Given the description of an element on the screen output the (x, y) to click on. 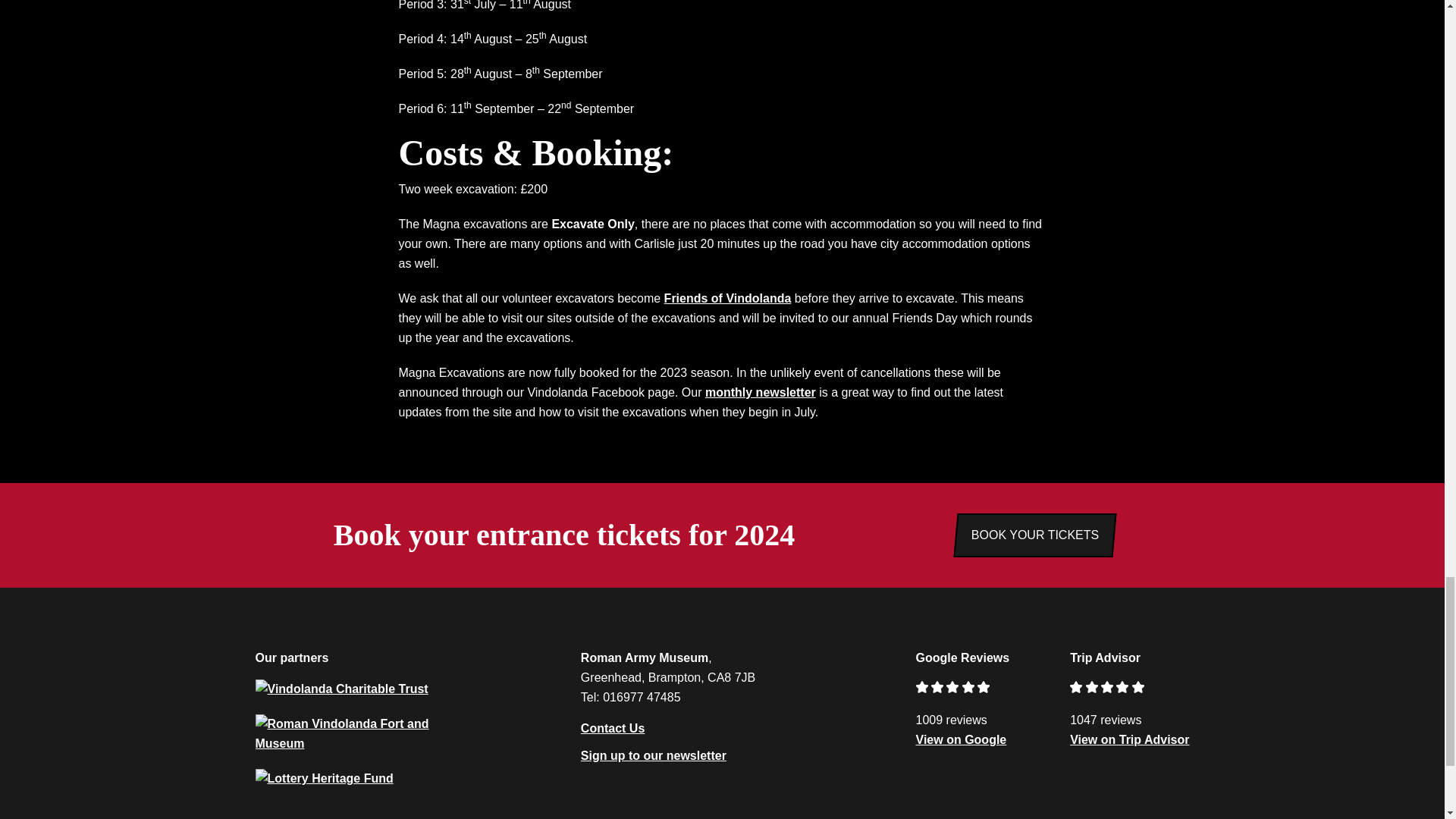
monthly newsletter (759, 391)
View on Trip Advisor (1129, 739)
Sign up to our newsletter (653, 755)
Friends of Vindolanda (727, 297)
BOOK YOUR TICKETS (1034, 535)
View on Google (961, 739)
Contact Us (612, 728)
